Given the description of an element on the screen output the (x, y) to click on. 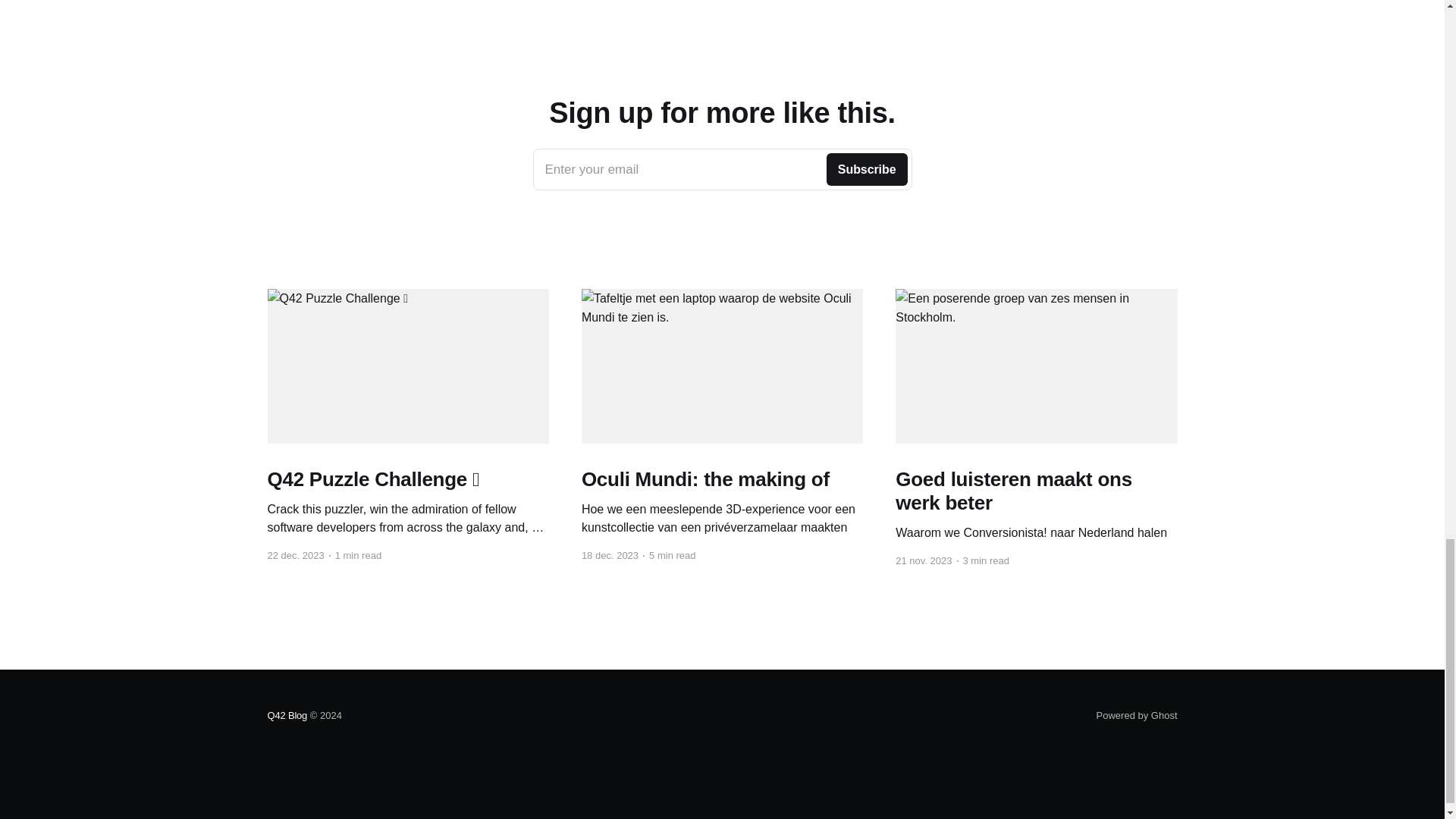
Powered by Ghost (1136, 715)
Q42 Blog (721, 169)
